Given the description of an element on the screen output the (x, y) to click on. 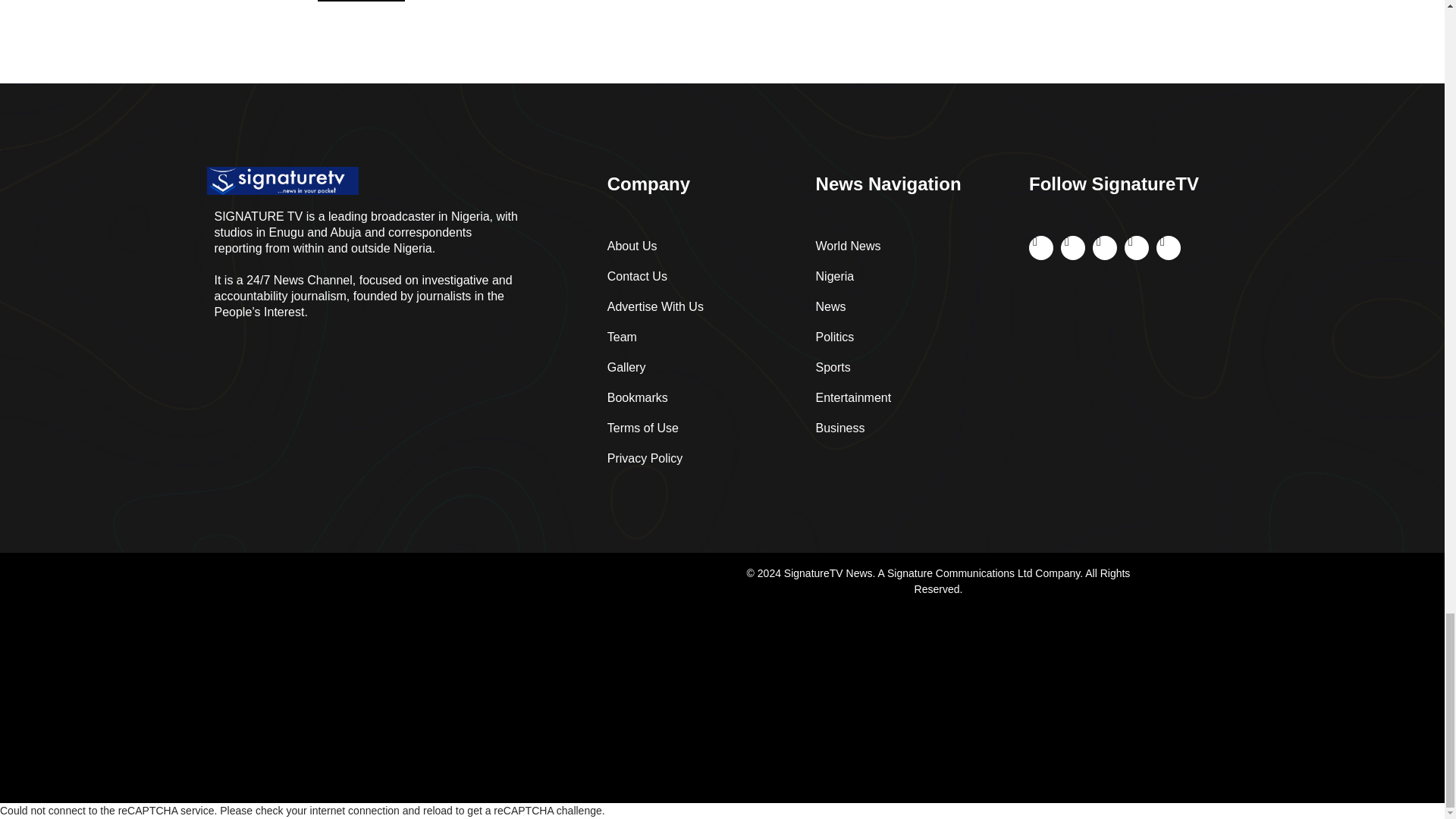
Post Comment (360, 0)
